Given the description of an element on the screen output the (x, y) to click on. 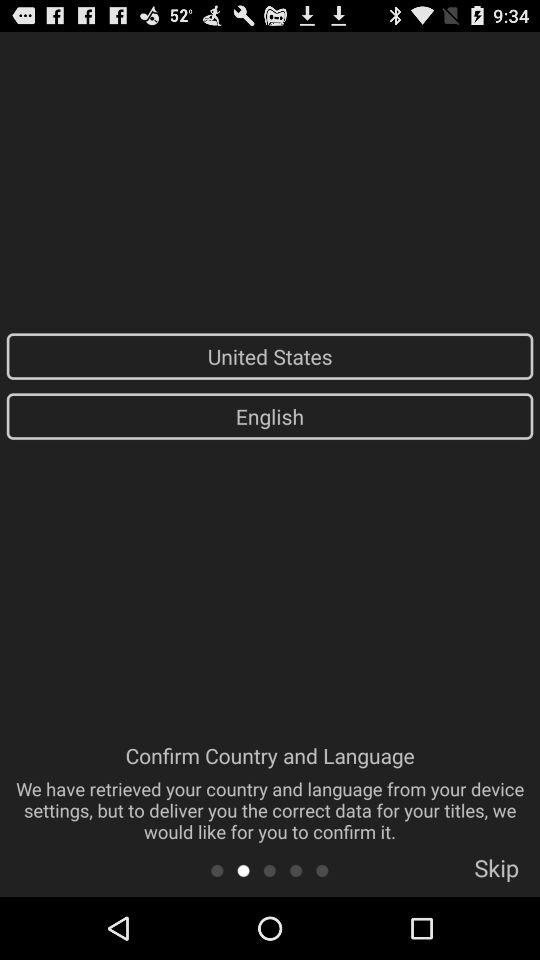
go to the 4th page (295, 870)
